Given the description of an element on the screen output the (x, y) to click on. 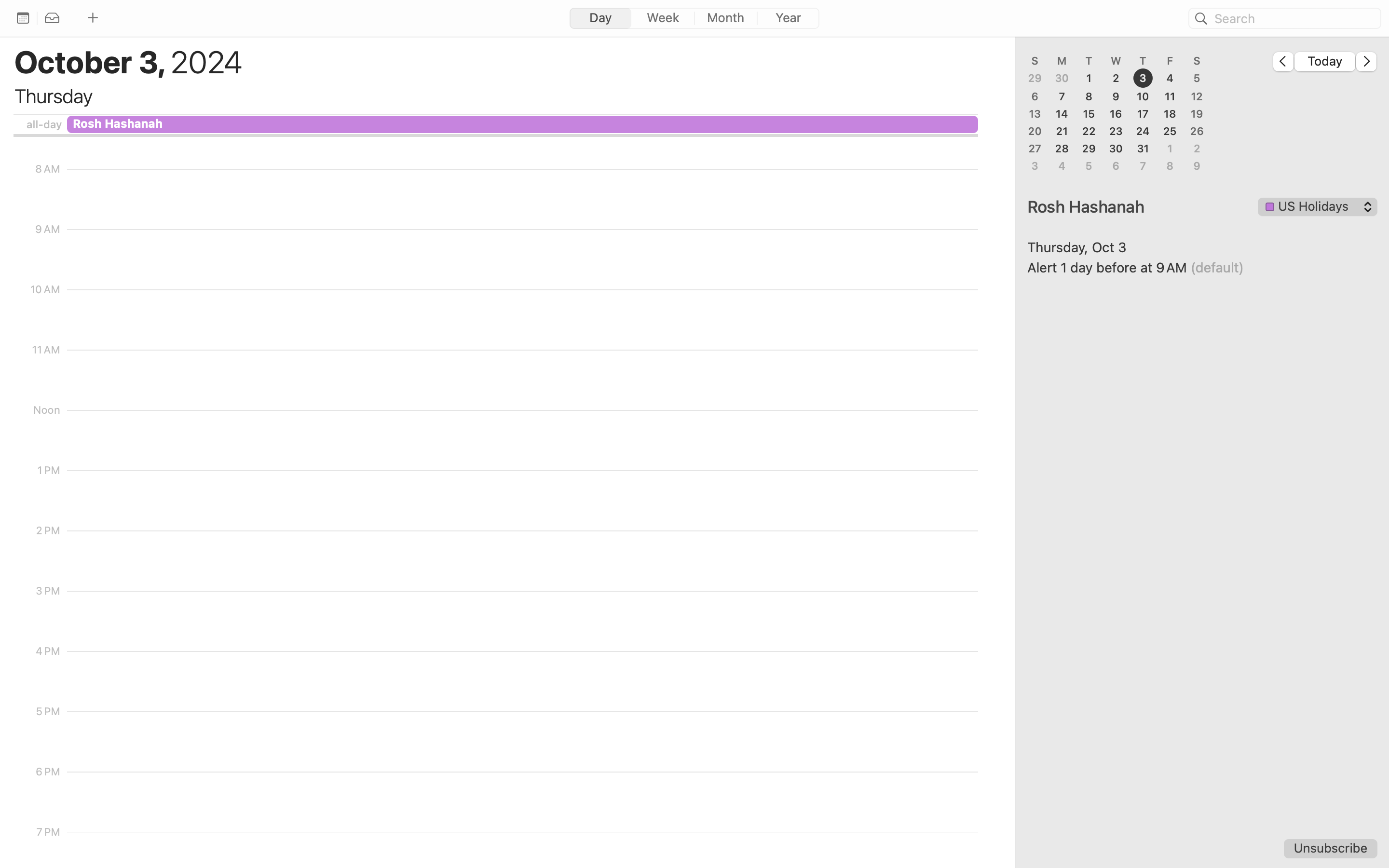
US Holidays Element type: AXPopUpButton (1317, 207)
11 Element type: AXStaticText (1169, 96)
15 Element type: AXStaticText (1088, 113)
30 Element type: AXStaticText (1061, 78)
2 Element type: AXStaticText (1115, 78)
